Given the description of an element on the screen output the (x, y) to click on. 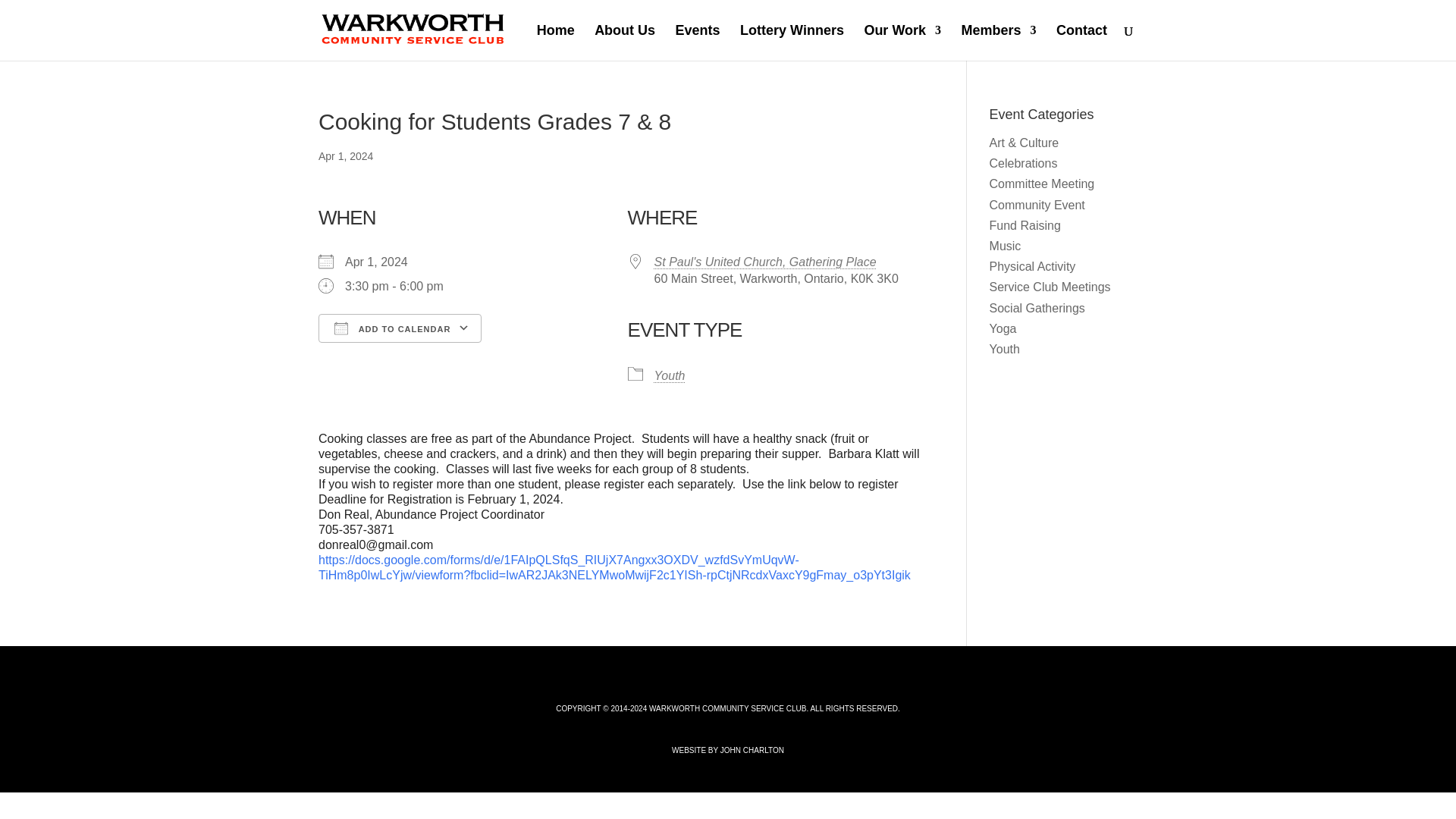
Lottery Winners (791, 42)
Service Club Meetings (1050, 286)
Contact (1081, 42)
Google Calendar (538, 355)
ADD TO CALENDAR (399, 328)
Members (998, 42)
Celebrations (1024, 163)
Youth (669, 375)
Committee Meeting (1042, 183)
Home (556, 42)
